Given the description of an element on the screen output the (x, y) to click on. 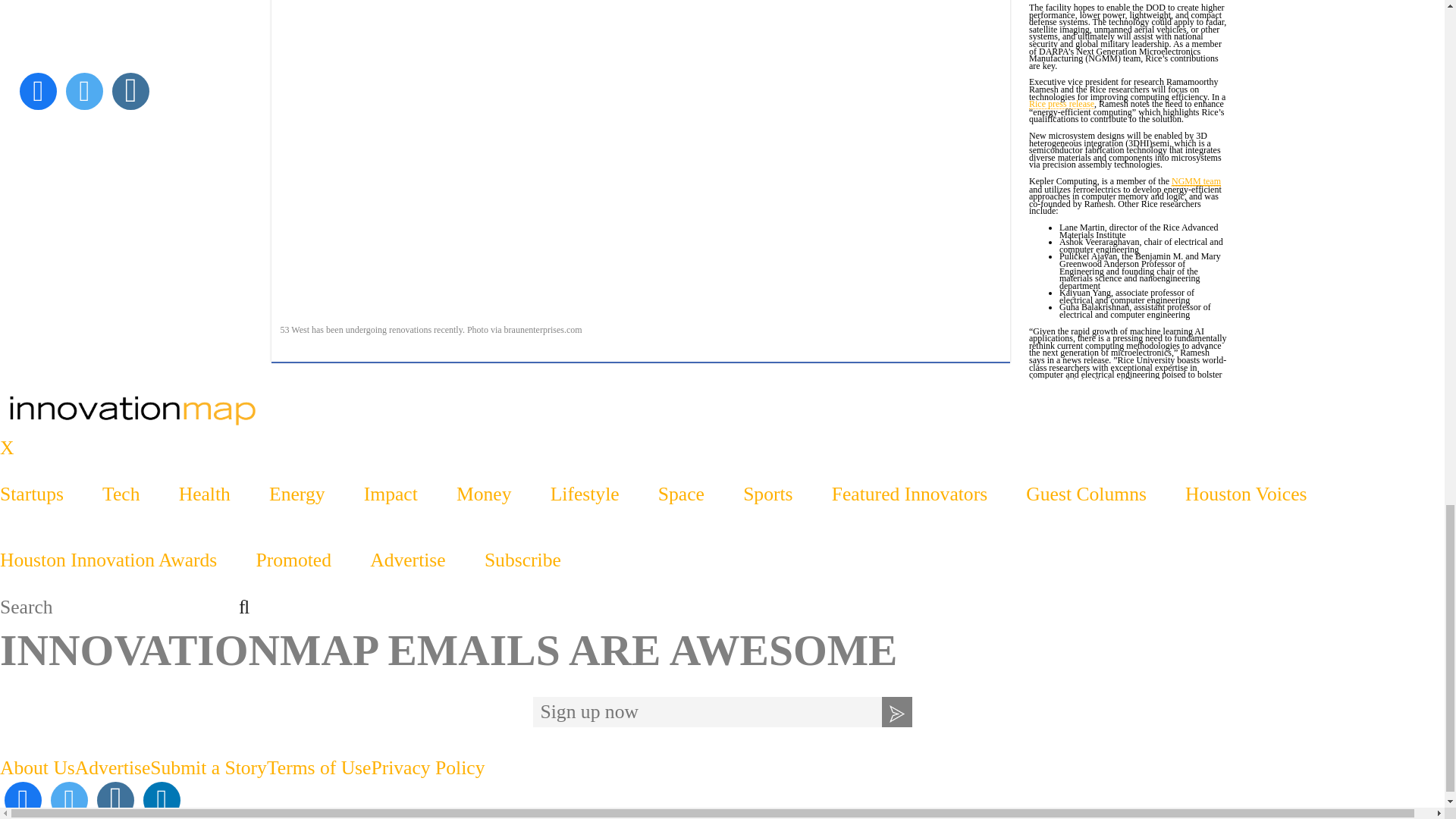
NGMM team (1196, 182)
Rice press release (1061, 104)
SportsMap Houston (722, 410)
